Given the description of an element on the screen output the (x, y) to click on. 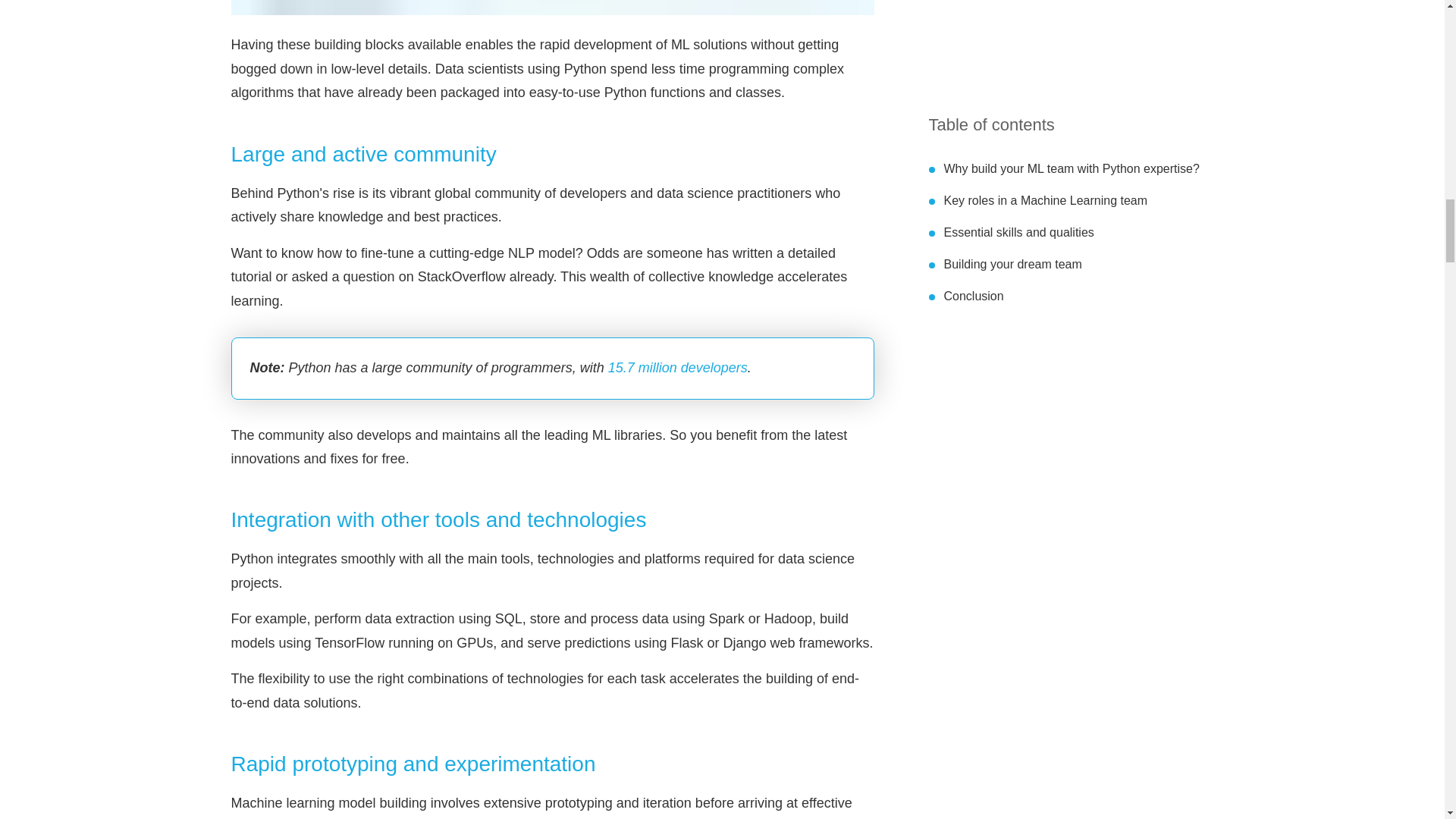
15.7 million developers (678, 367)
